Given the description of an element on the screen output the (x, y) to click on. 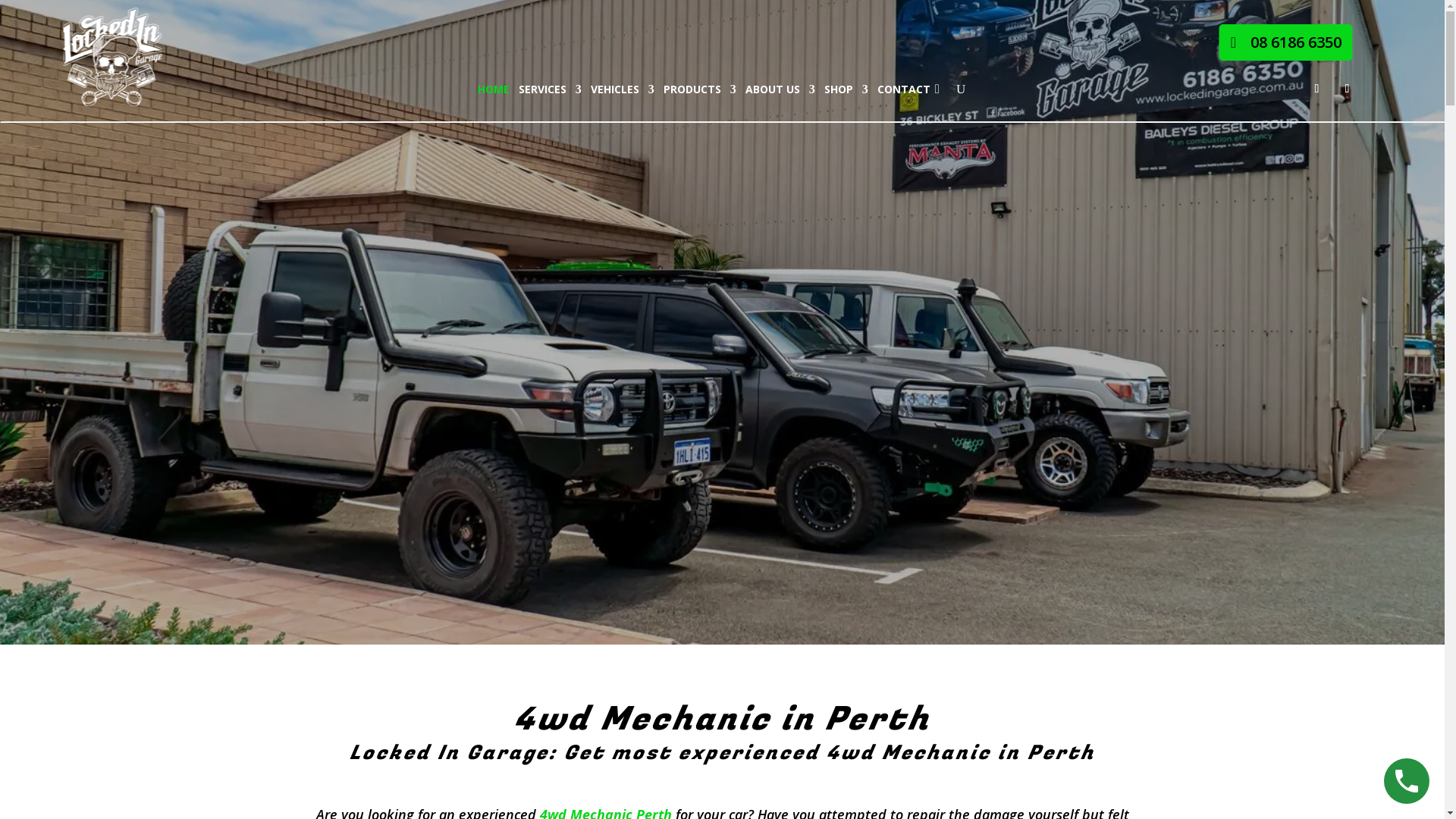
Follow on Instagram Element type: hover (1346, 88)
08 6186 6350 Element type: text (1285, 42)
PRODUCTS Element type: text (699, 89)
VEHICLES Element type: text (622, 89)
CONTACT Element type: text (903, 89)
SERVICES Element type: text (549, 89)
ABOUT US Element type: text (780, 89)
Follow on Facebook Element type: hover (1316, 88)
Locked In Garage Element type: hover (112, 56)
HOME Element type: text (493, 89)
SHOP Element type: text (846, 89)
